Given the description of an element on the screen output the (x, y) to click on. 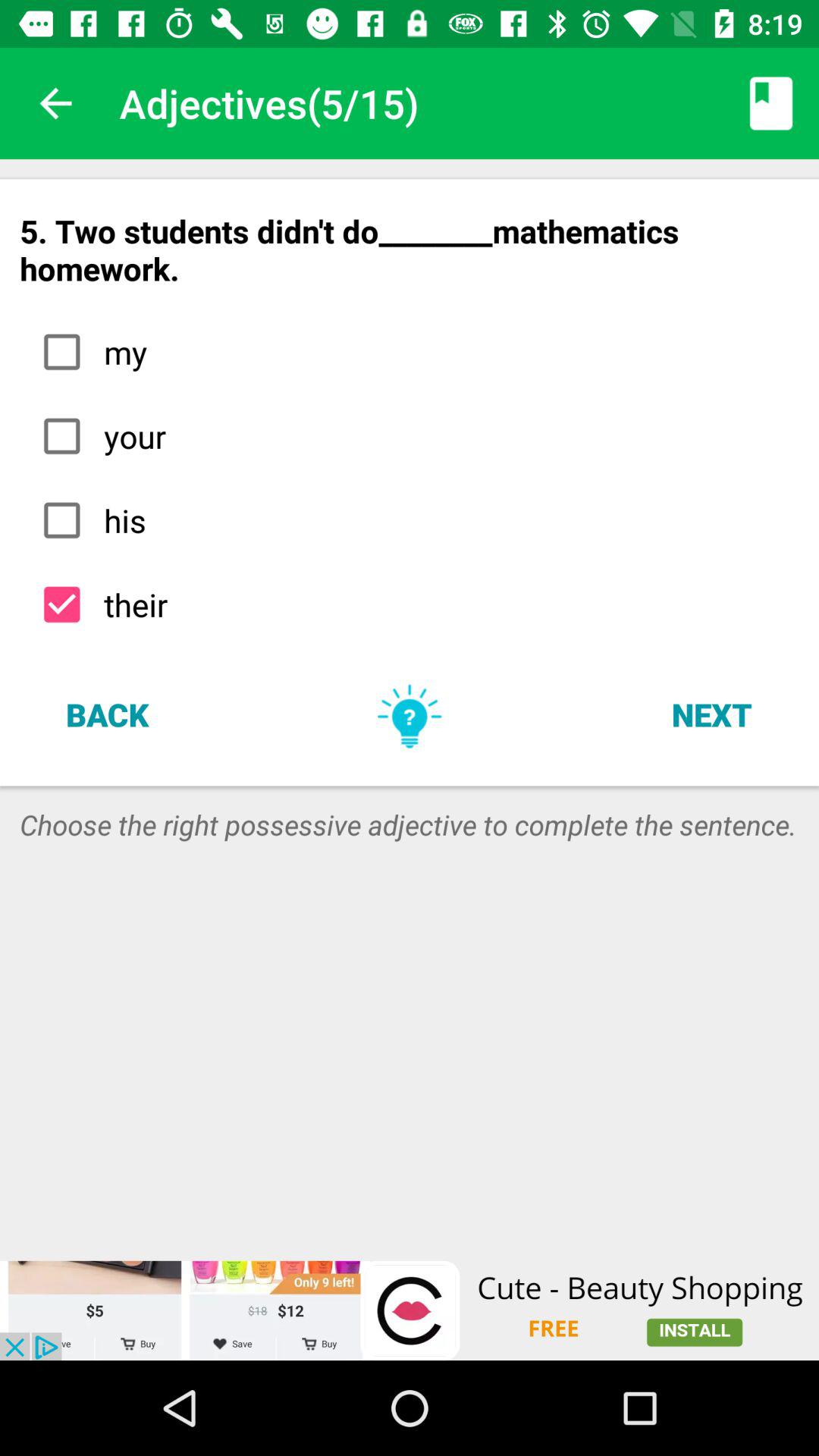
advertisement page (409, 1310)
